Given the description of an element on the screen output the (x, y) to click on. 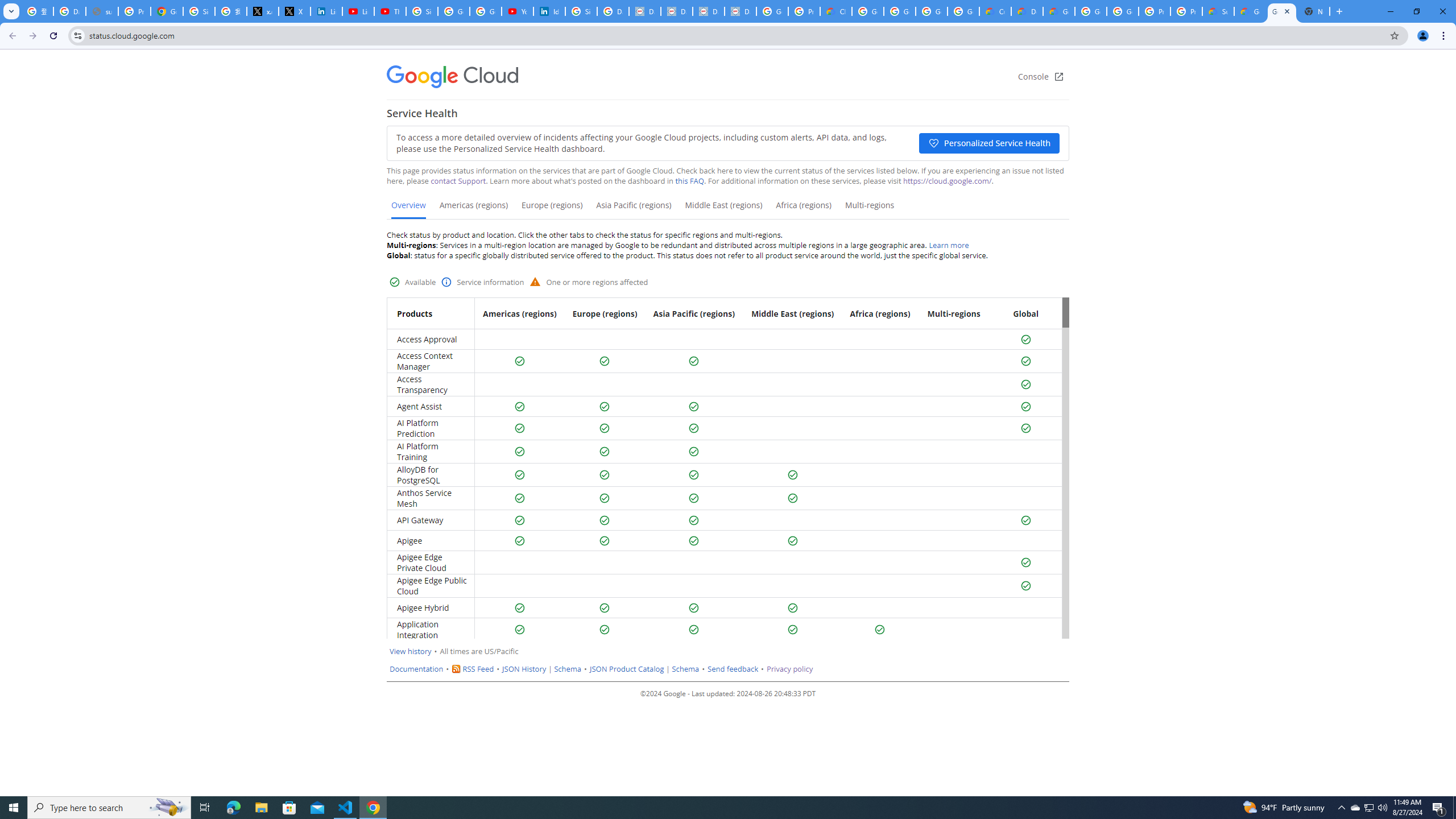
JSON History (524, 668)
LinkedIn Privacy Policy (326, 11)
Documentation (417, 668)
Data Privacy Framework (740, 11)
Sign in - Google Accounts (421, 11)
Available status (880, 629)
Support Hub | Google Cloud (1217, 11)
https://cloud.google.com/ (946, 181)
Africa (regions) (803, 209)
